Given the description of an element on the screen output the (x, y) to click on. 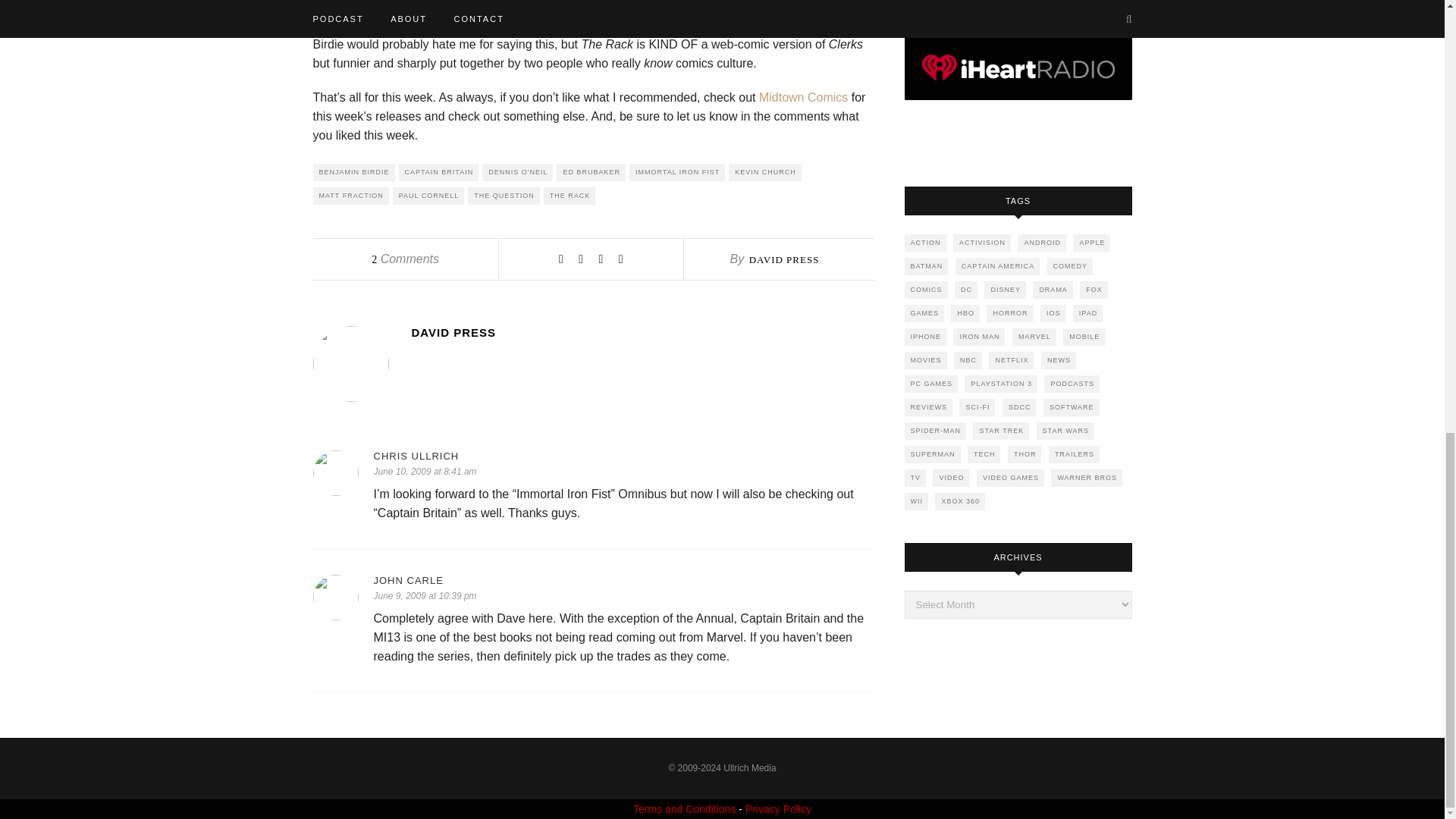
Midtown Comics (802, 97)
Posts by David Press (784, 259)
BENJAMIN BIRDIE (353, 171)
Posts by David Press (641, 332)
ED BRUBAKER (591, 171)
MATT FRACTION (350, 195)
PAUL CORNELL (428, 195)
CAPTAIN BRITAIN (438, 171)
DENNIS O'NEIL (517, 171)
THE RACK (569, 195)
KEVIN CHURCH (765, 171)
DAVID PRESS (784, 259)
THE QUESTION (503, 195)
The Rack (760, 24)
IMMORTAL IRON FIST (676, 171)
